Given the description of an element on the screen output the (x, y) to click on. 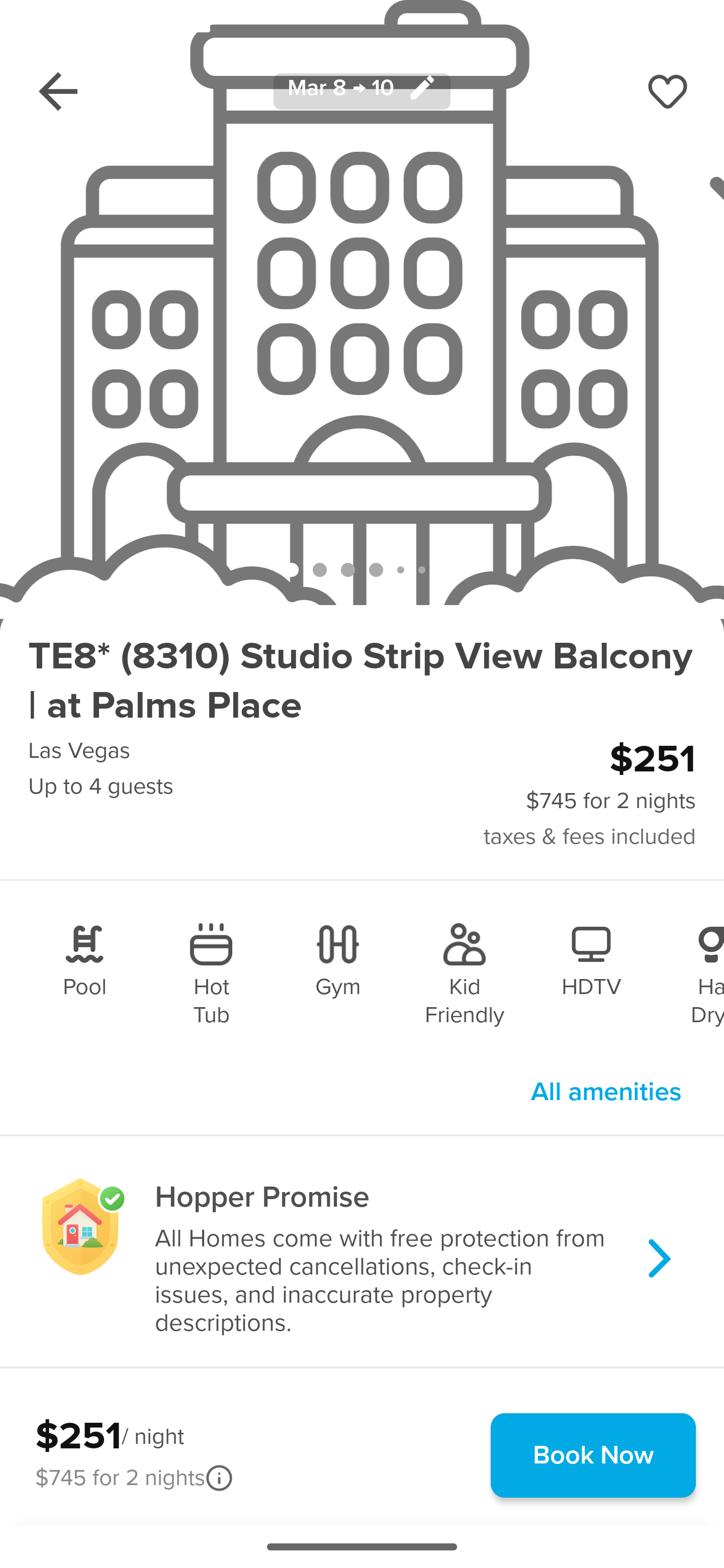
Mar 8 → 10 (361, 90)
All amenities (606, 1091)
Book Now (592, 1454)
